Given the description of an element on the screen output the (x, y) to click on. 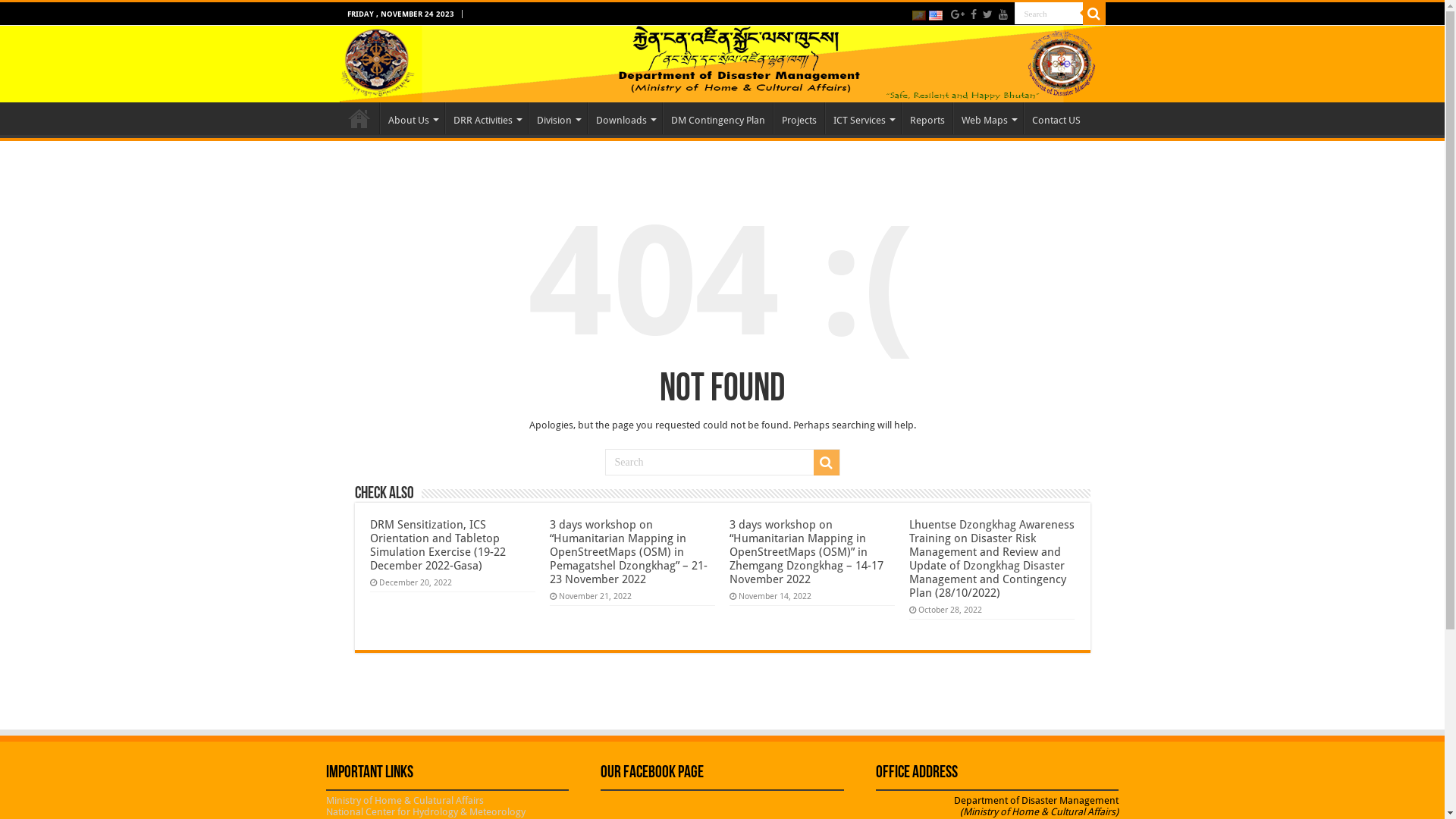
Facebook Element type: hover (973, 14)
Contact US Element type: text (1055, 118)
Ministry of Home & Culatural Affairs Element type: text (404, 800)
About Us Element type: text (411, 118)
Web Maps Element type: text (987, 118)
Projects Element type: text (798, 118)
ICT Services Element type: text (862, 118)
Twitter Element type: hover (987, 14)
Department of Disaster Management Element type: hover (722, 63)
DM Contingency Plan Element type: text (717, 118)
Downloads Element type: text (623, 118)
Google+ Element type: hover (957, 14)
Reports Element type: text (925, 118)
Search Element type: hover (1048, 13)
Search Element type: text (1093, 13)
National Center for Hydrology & Meteorology Element type: text (425, 811)
Search Element type: text (825, 462)
DRR Activities Element type: text (485, 118)
Youtube Element type: hover (1002, 14)
Division Element type: text (556, 118)
Home Element type: text (359, 118)
